Given the description of an element on the screen output the (x, y) to click on. 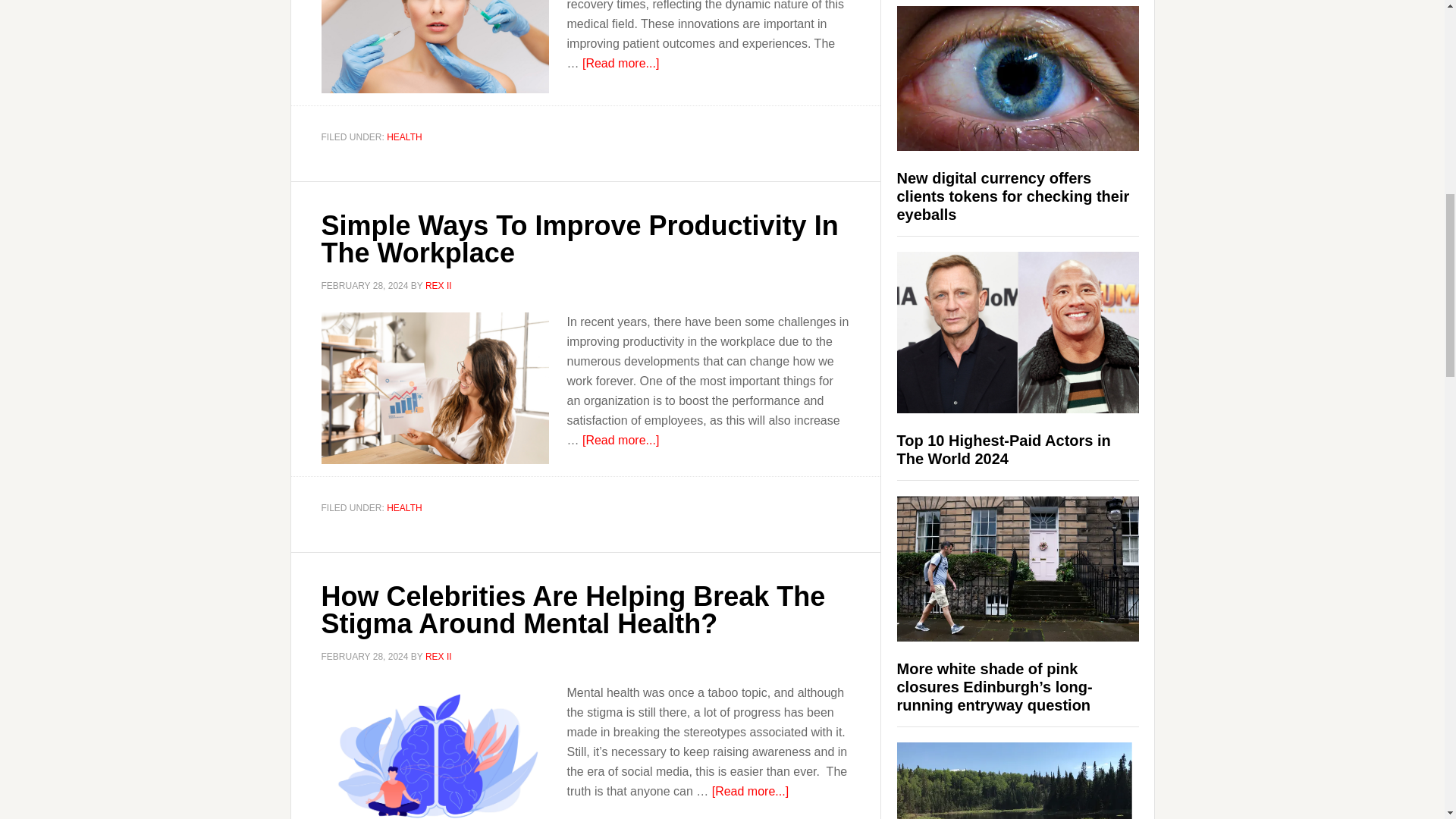
REX II (438, 656)
REX II (438, 285)
HEALTH (404, 136)
HEALTH (404, 507)
Simple Ways To Improve Productivity In The Workplace (579, 238)
